Given the description of an element on the screen output the (x, y) to click on. 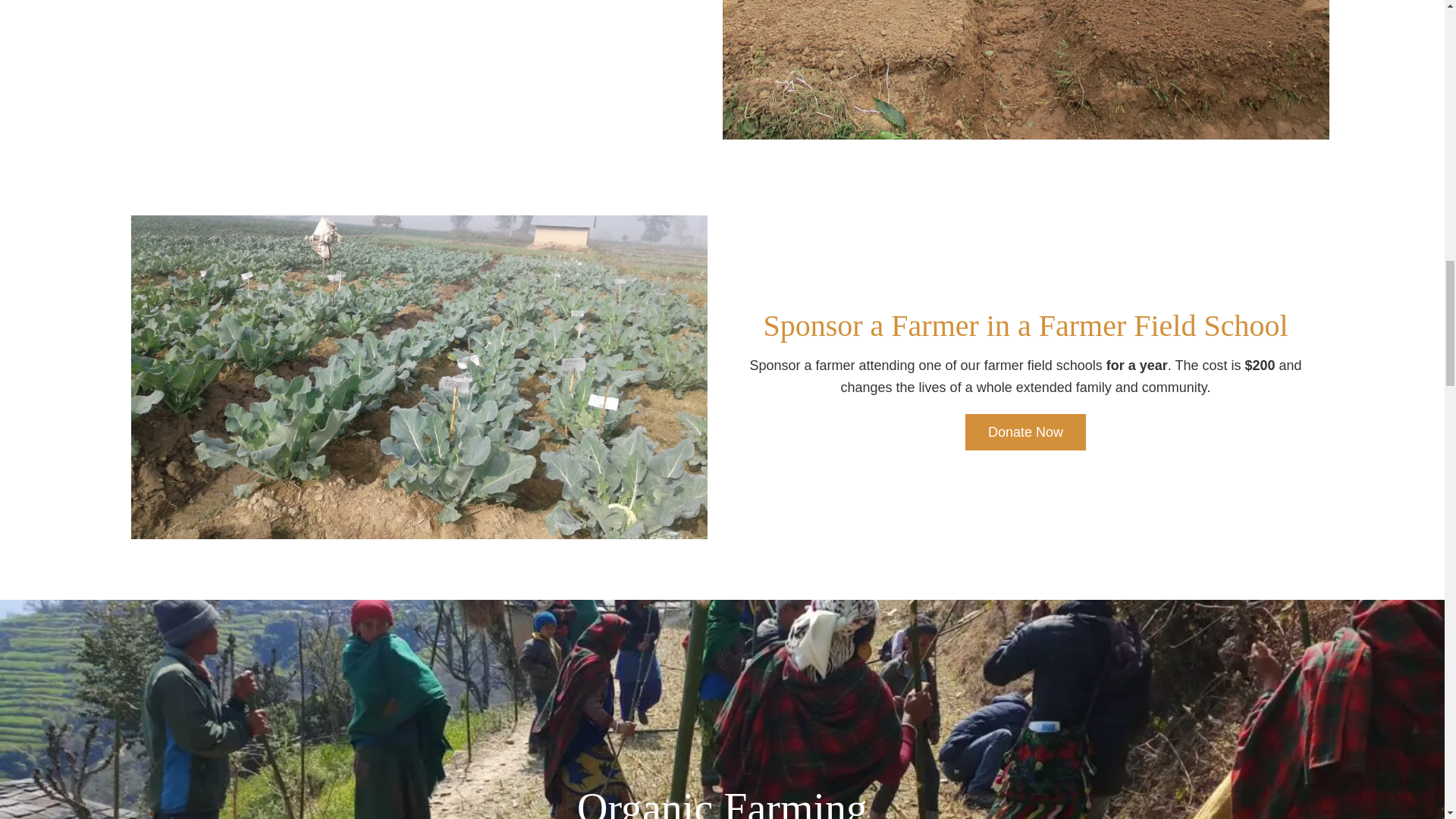
facilitator-training (1024, 69)
